Given the description of an element on the screen output the (x, y) to click on. 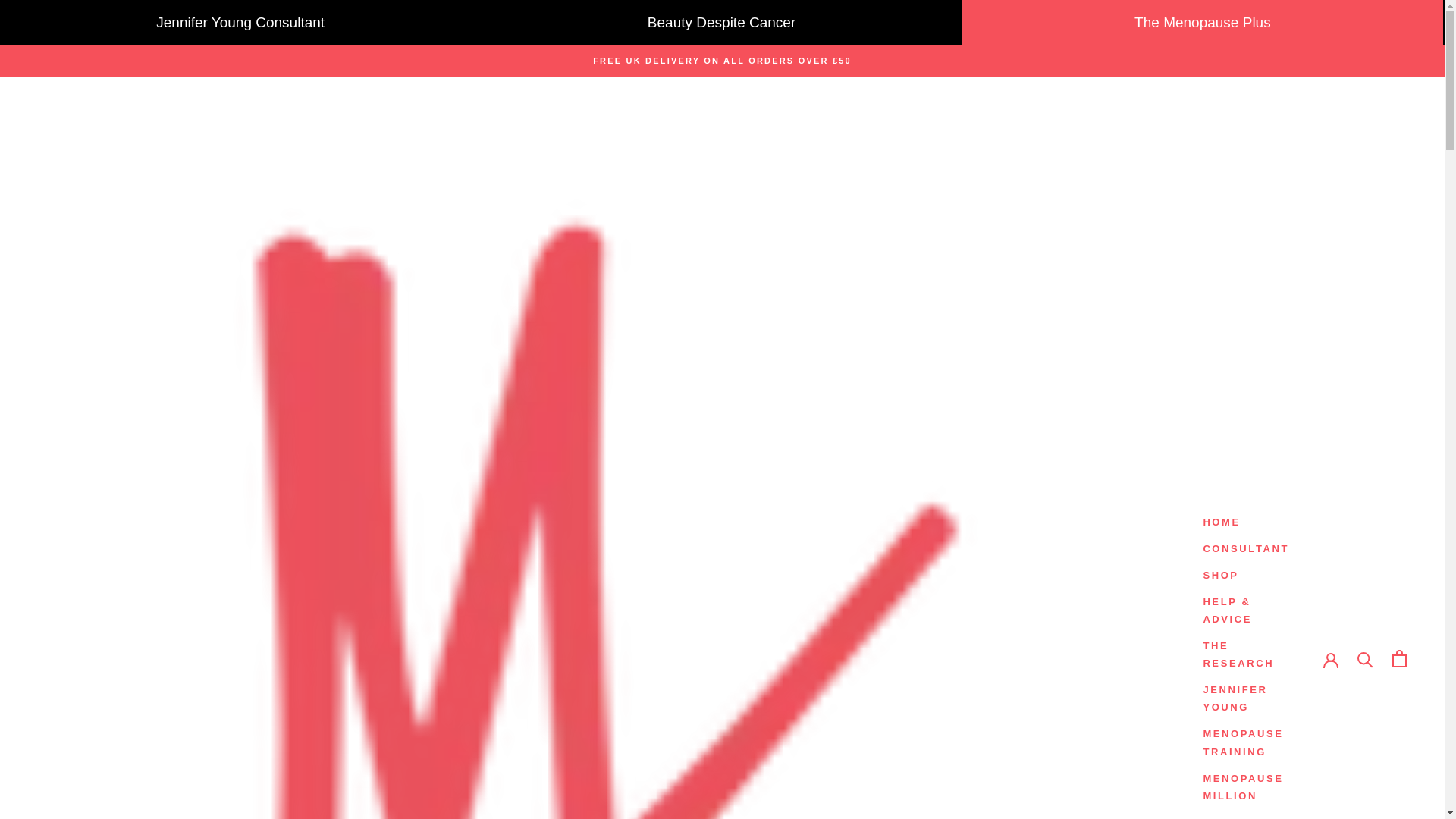
The Menopause Plus (1202, 22)
Beauty Despite Cancer (720, 22)
Jennifer Young Consultant (240, 22)
